Given the description of an element on the screen output the (x, y) to click on. 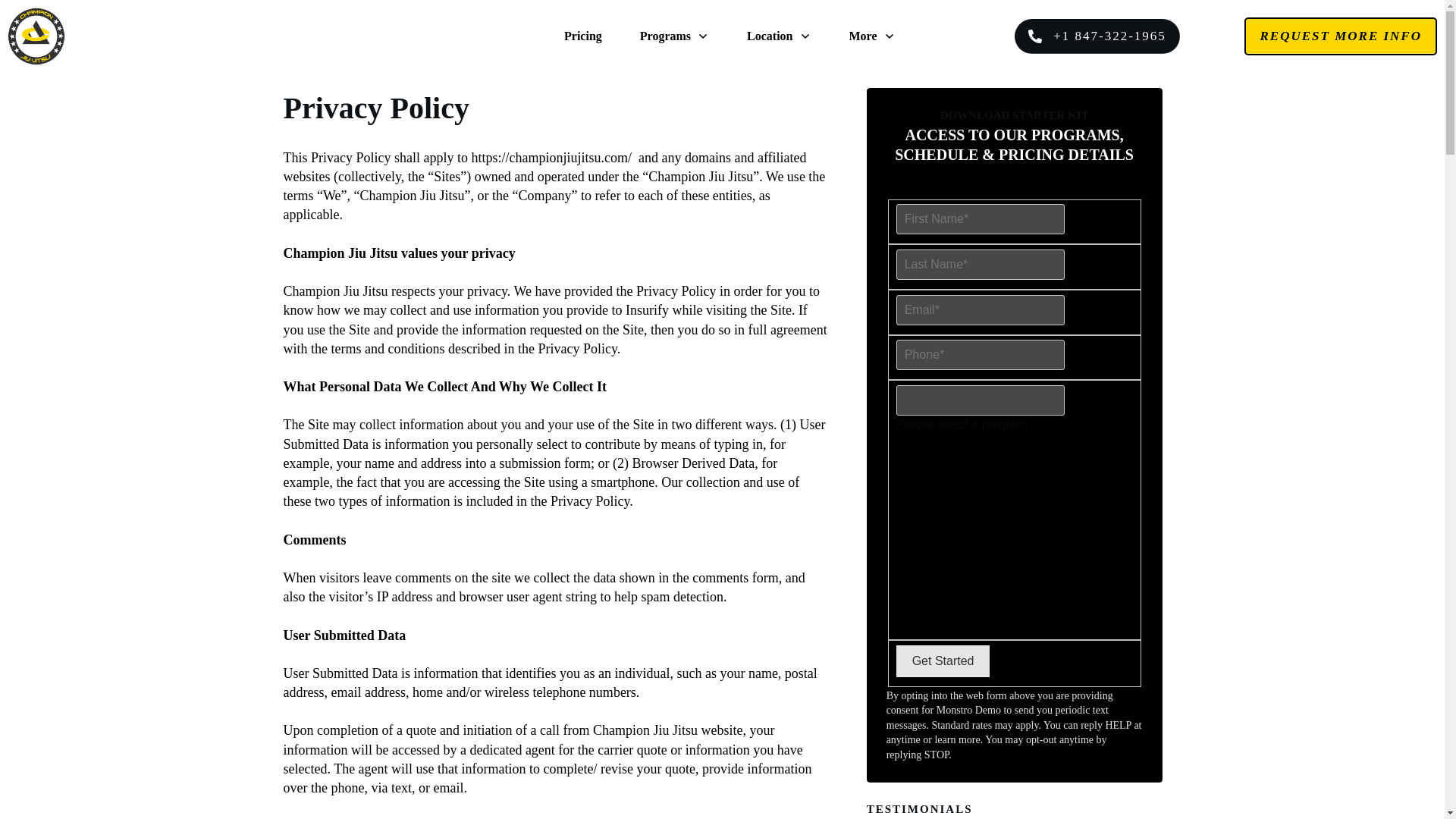
REQUEST MORE INFO (1340, 36)
Location (778, 36)
Programs (674, 36)
Get Started (943, 661)
More (871, 36)
Pricing (583, 36)
